Given the description of an element on the screen output the (x, y) to click on. 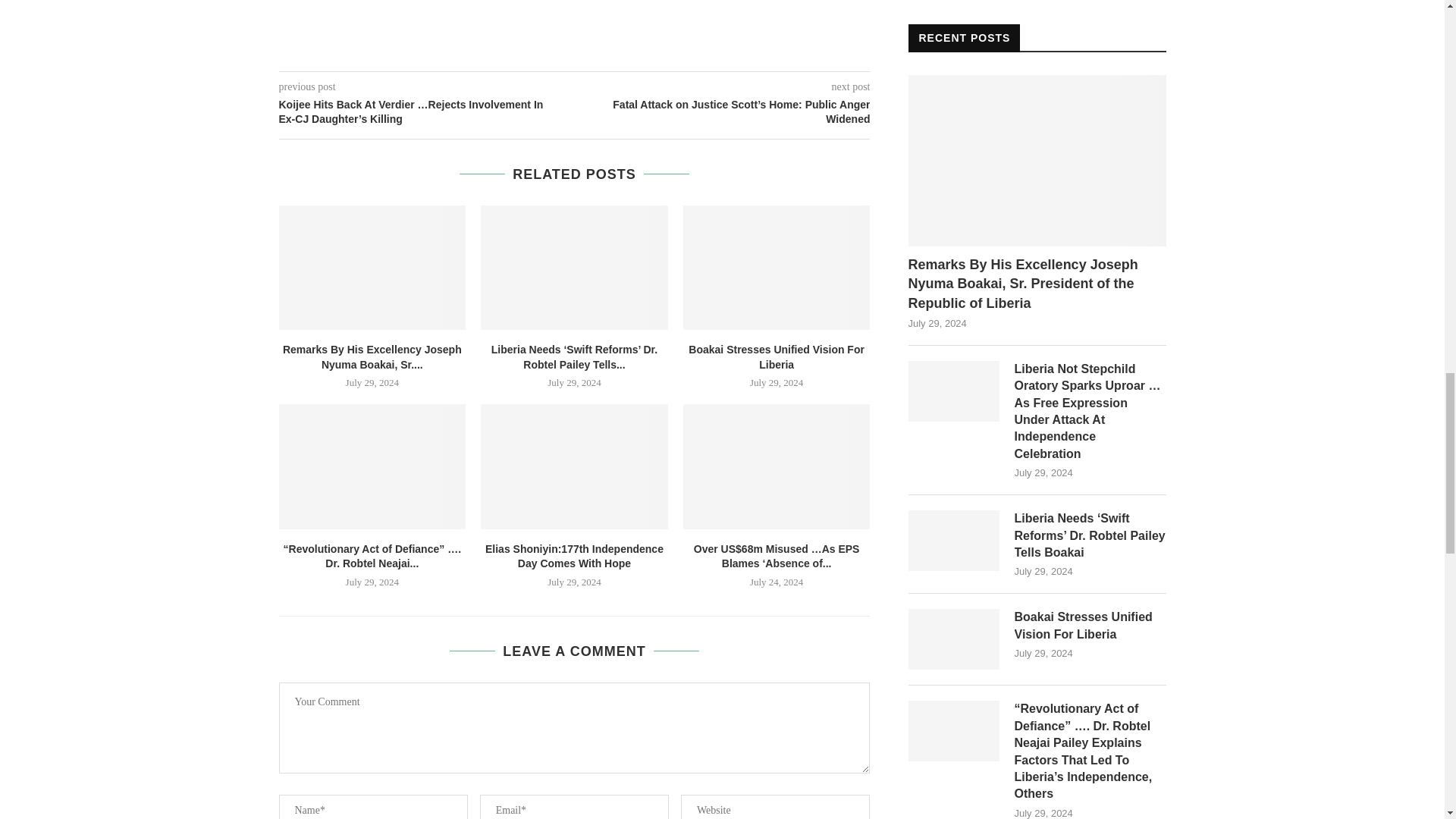
Elias Shoniyin:177th Independence Day Comes With Hope (574, 466)
Boakai Stresses Unified Vision For Liberia (776, 267)
